Given the description of an element on the screen output the (x, y) to click on. 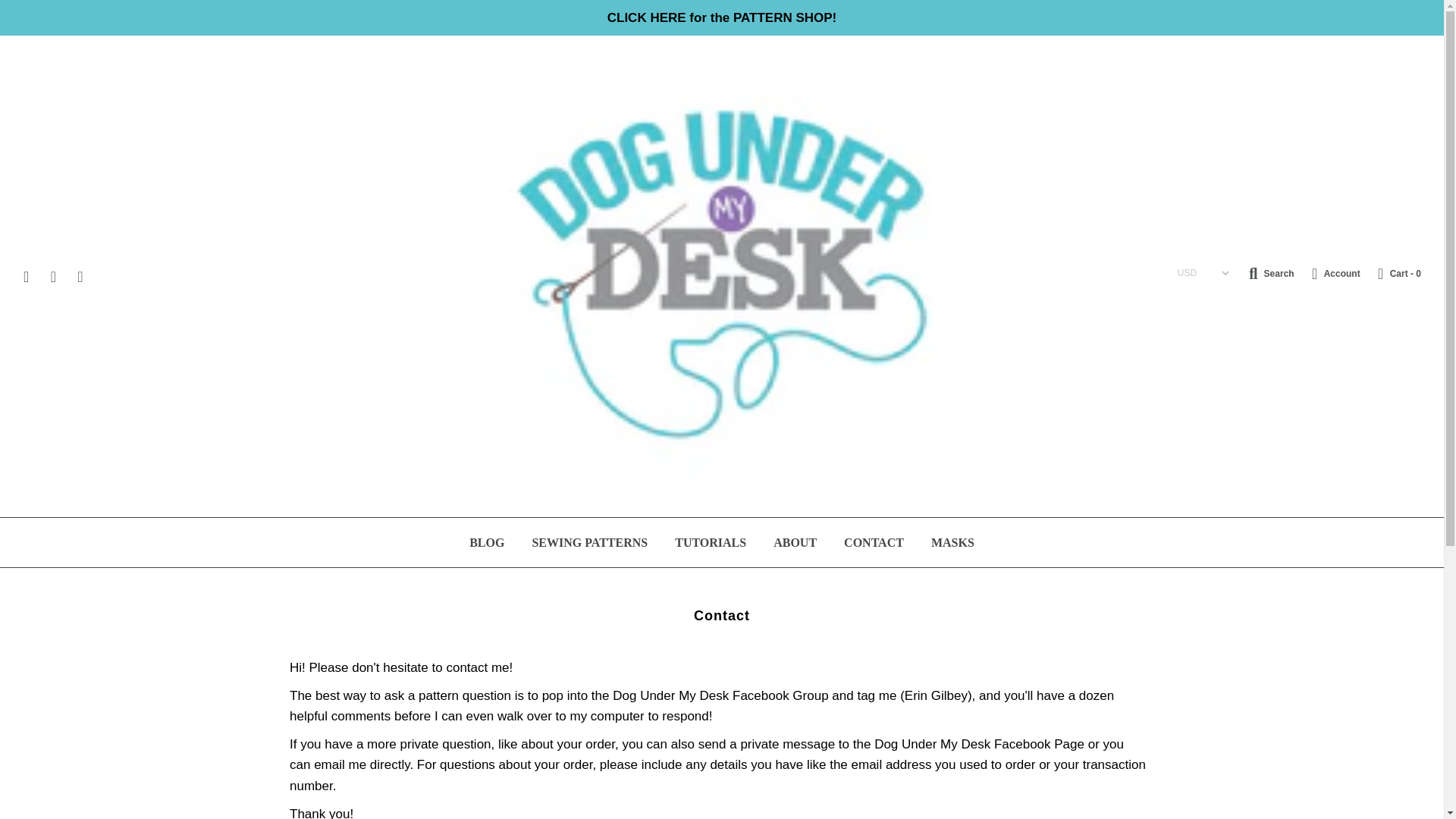
CLICK HERE for the PATTERN SHOP! (722, 17)
Cart (1391, 273)
Search (1271, 273)
Search (1271, 273)
Facebook Group (720, 695)
Log in (1328, 273)
Facebook Page (979, 744)
Email Erin (340, 764)
Search (1425, 8)
Account (1328, 273)
